Given the description of an element on the screen output the (x, y) to click on. 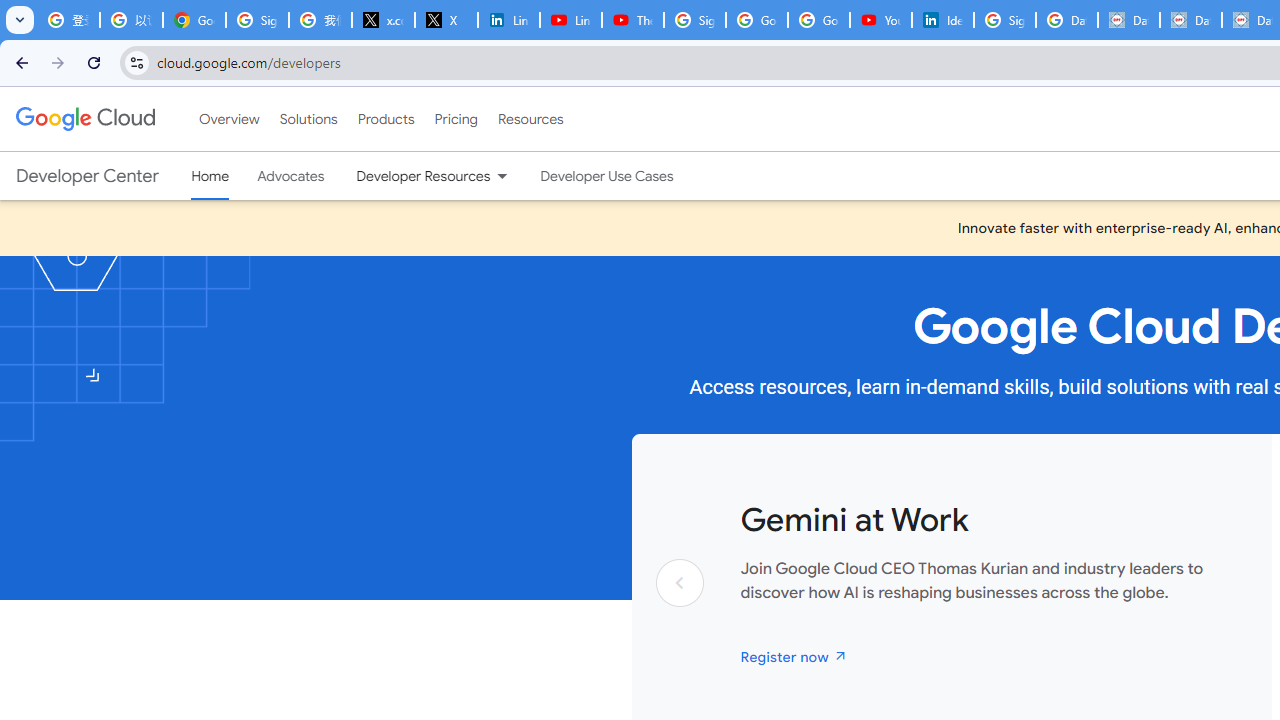
Identity verification via Persona | LinkedIn Help (942, 20)
Advocates (291, 175)
Dropdown menu for Developer Resources (502, 175)
Data Privacy Framework (1190, 20)
X (445, 20)
